Given the description of an element on the screen output the (x, y) to click on. 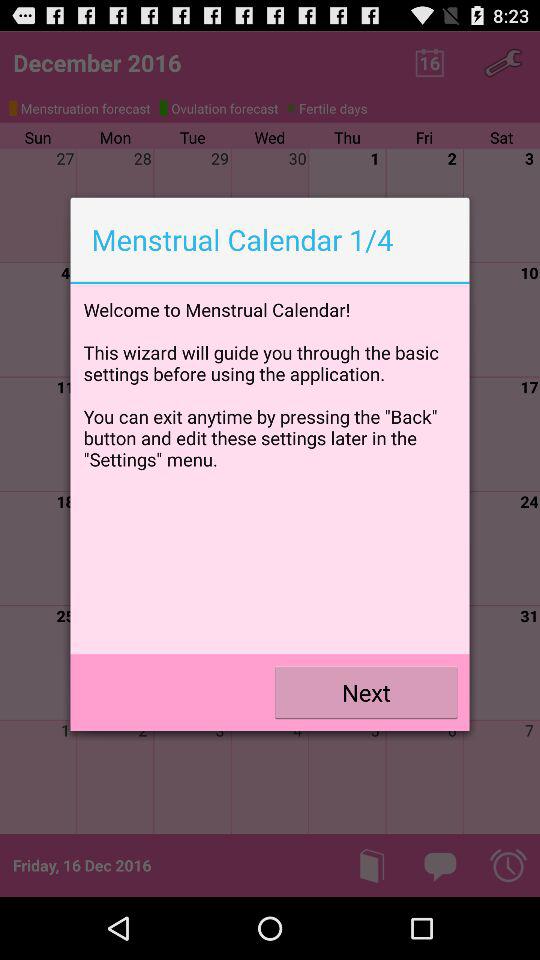
press icon at the bottom right corner (366, 692)
